Given the description of an element on the screen output the (x, y) to click on. 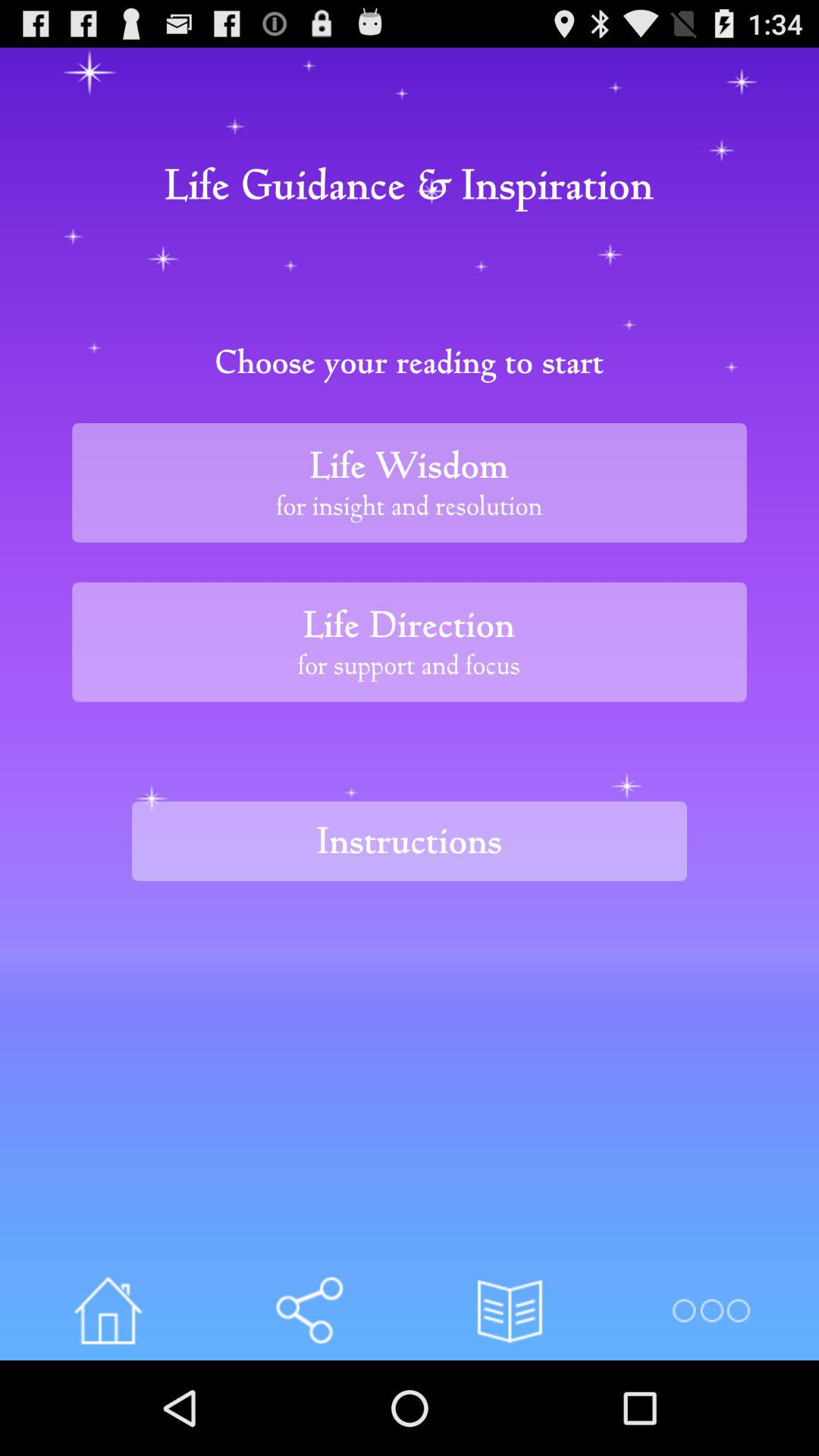
share article (308, 1310)
